Given the description of an element on the screen output the (x, y) to click on. 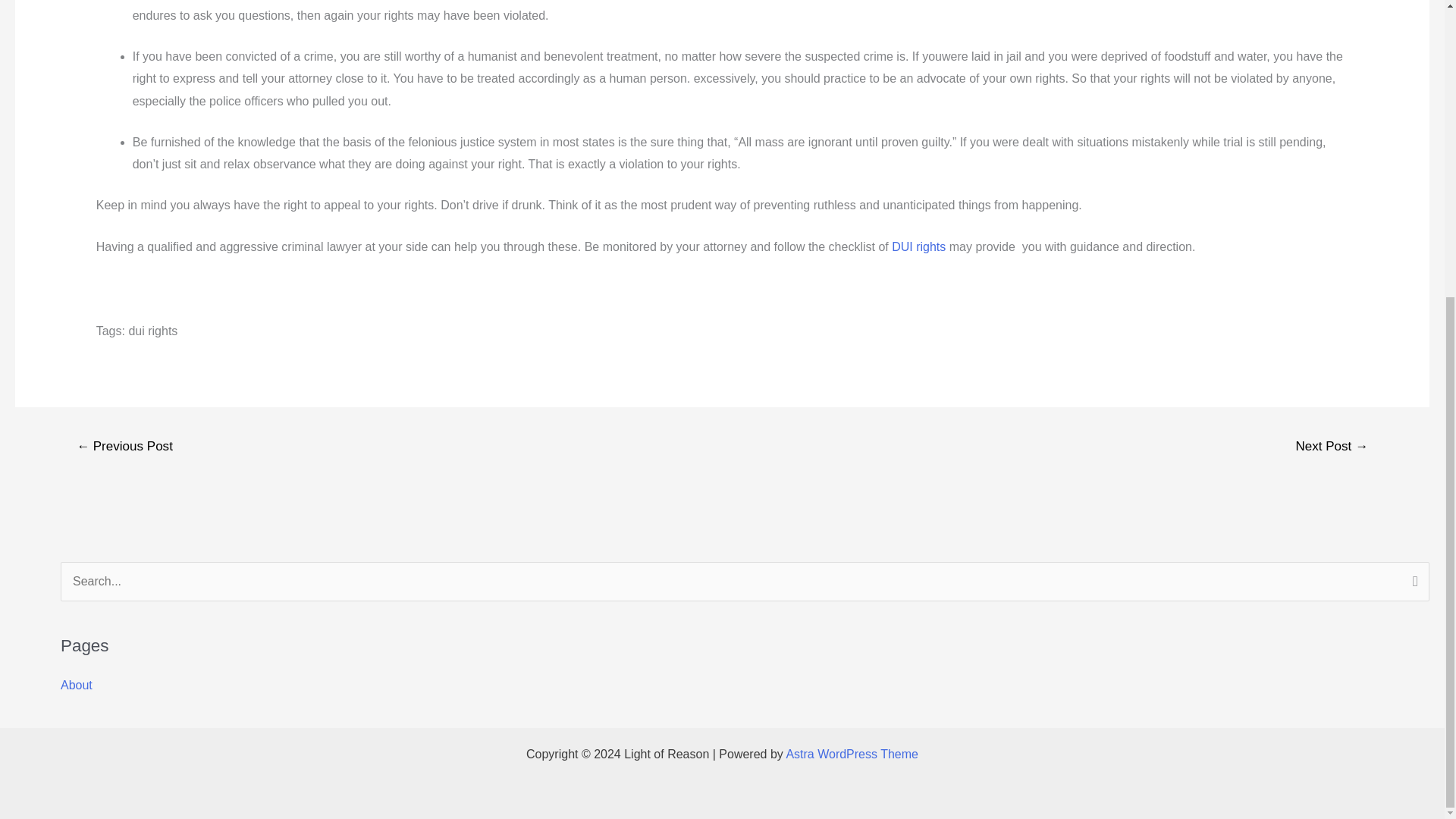
DUI rights (917, 246)
About (77, 684)
Astra WordPress Theme (852, 753)
